Given the description of an element on the screen output the (x, y) to click on. 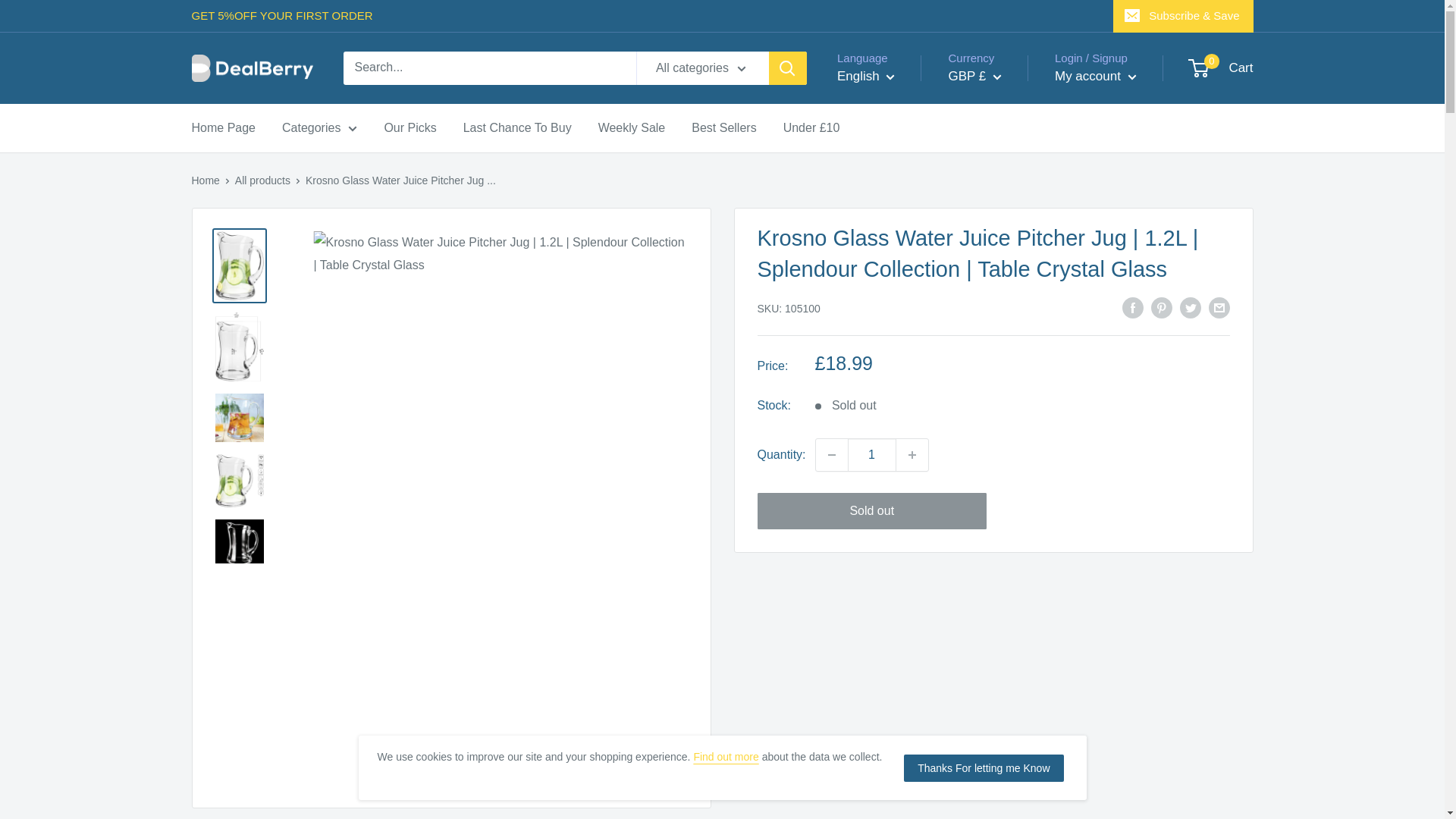
1 (871, 454)
Decrease quantity by 1 (831, 454)
Privacy Policy (725, 756)
Increase quantity by 1 (912, 454)
